Given the description of an element on the screen output the (x, y) to click on. 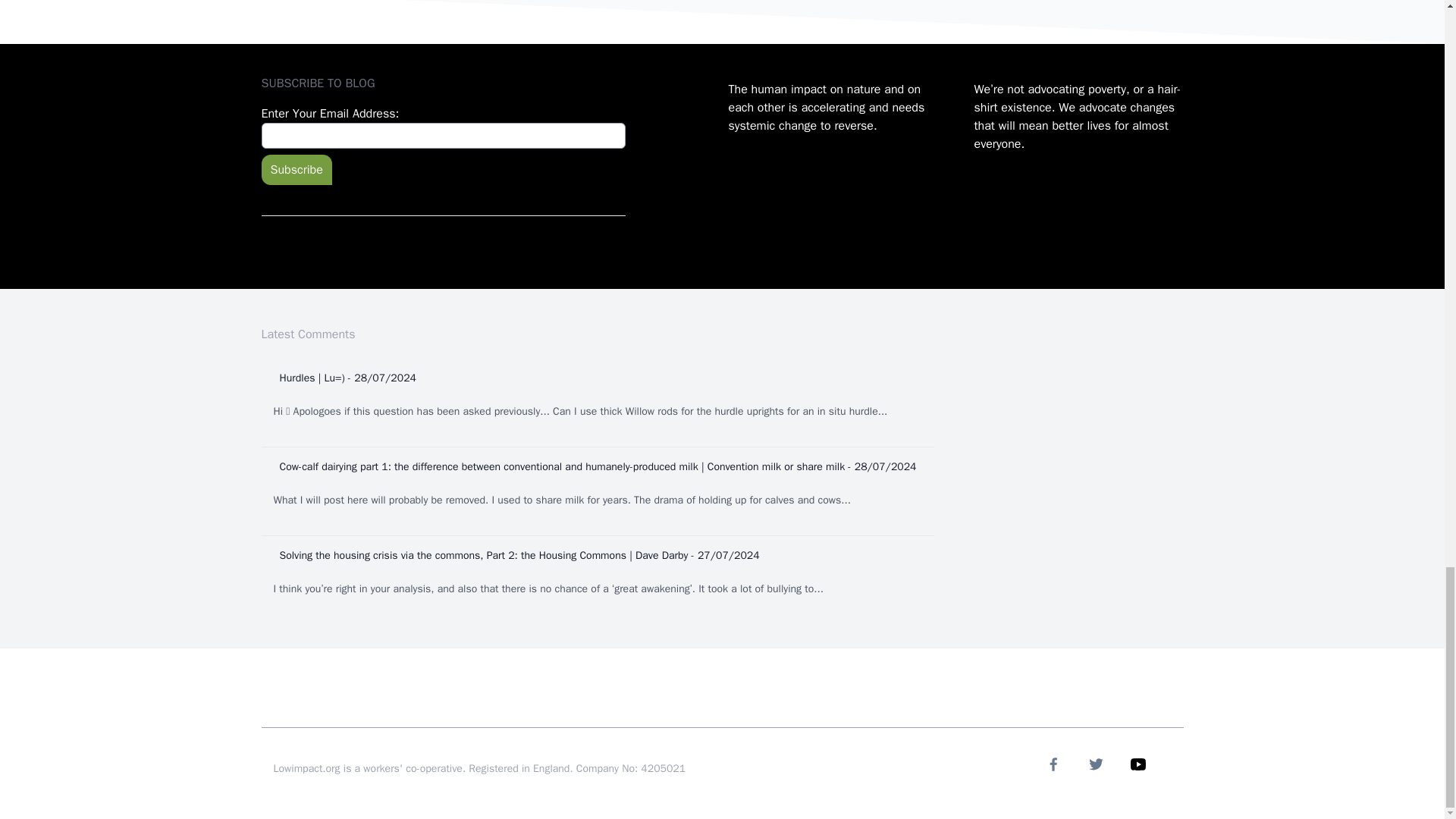
follow us on Youtube (1137, 764)
Subscribe (295, 169)
follow us on Facebook (1052, 764)
Subscribe (295, 169)
follow us on Twitter (1094, 764)
